Given the description of an element on the screen output the (x, y) to click on. 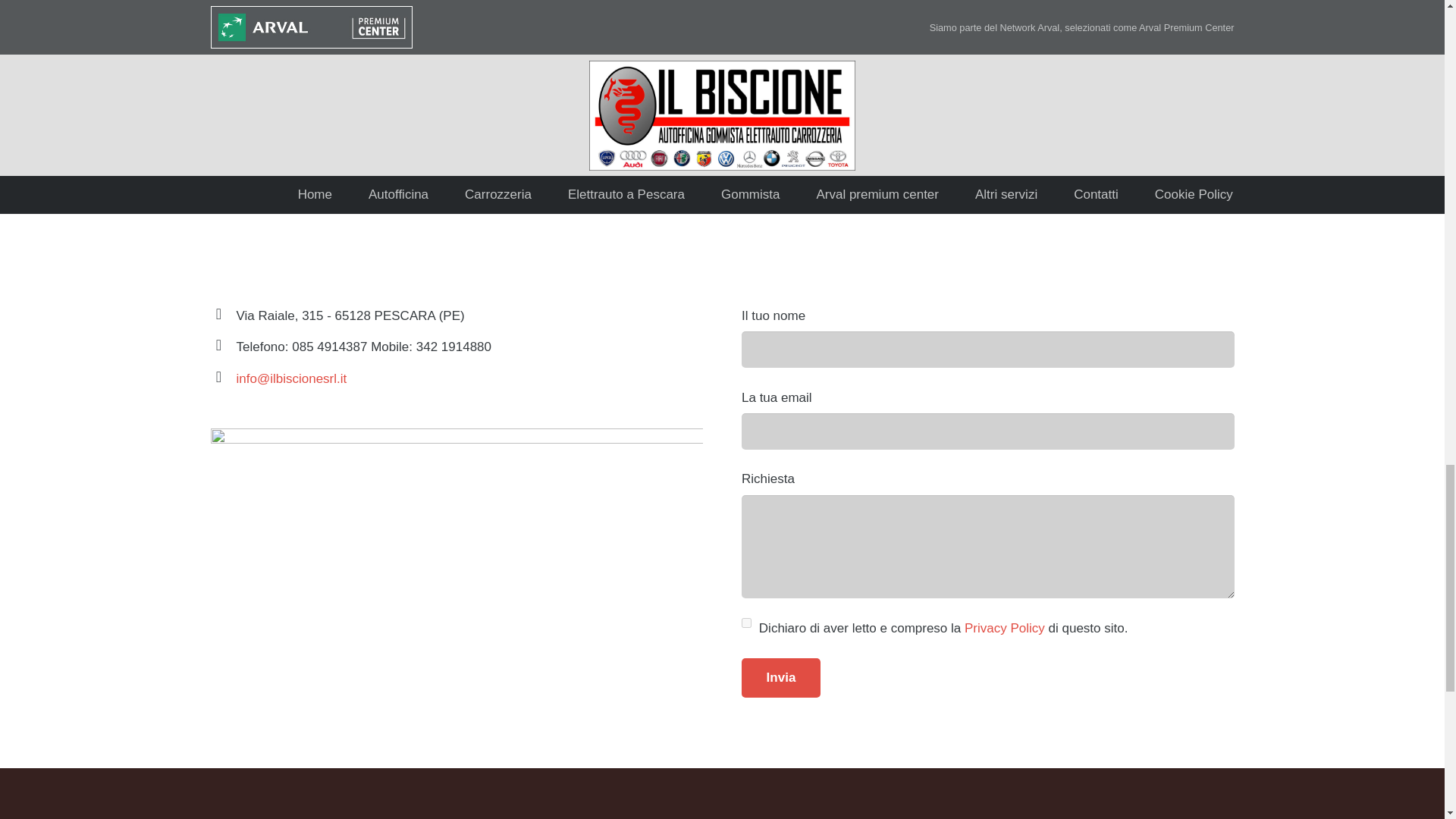
Invia (781, 677)
1 (746, 623)
Invia (781, 677)
Privacy Policy (1004, 627)
